Given the description of an element on the screen output the (x, y) to click on. 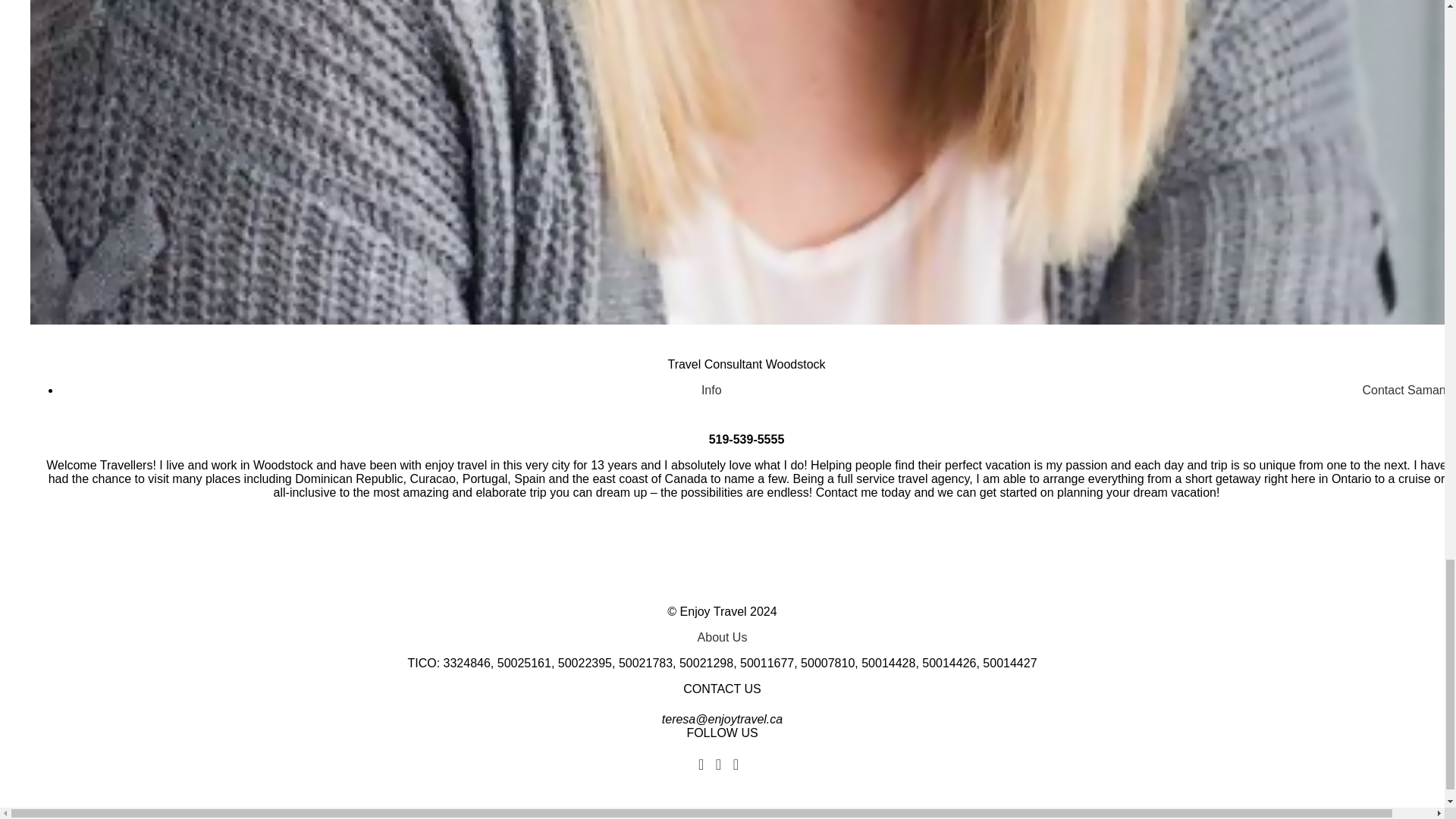
Info (711, 390)
Contact Samantha (1408, 390)
About Us (722, 636)
